Given the description of an element on the screen output the (x, y) to click on. 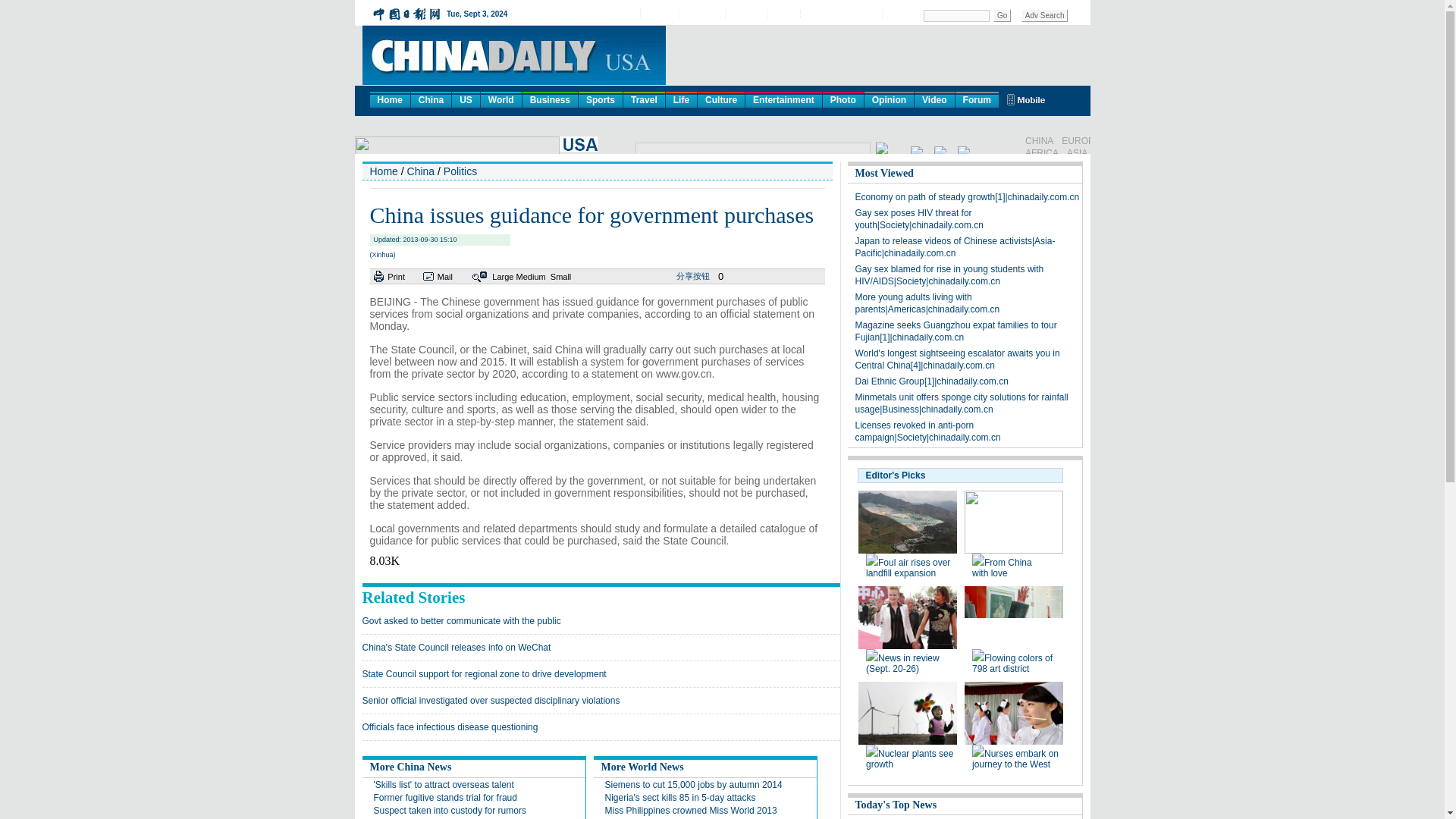
Sports (600, 99)
US (465, 99)
China (430, 99)
Home (389, 99)
Business (550, 99)
Travel (644, 99)
World (500, 99)
